Given the description of an element on the screen output the (x, y) to click on. 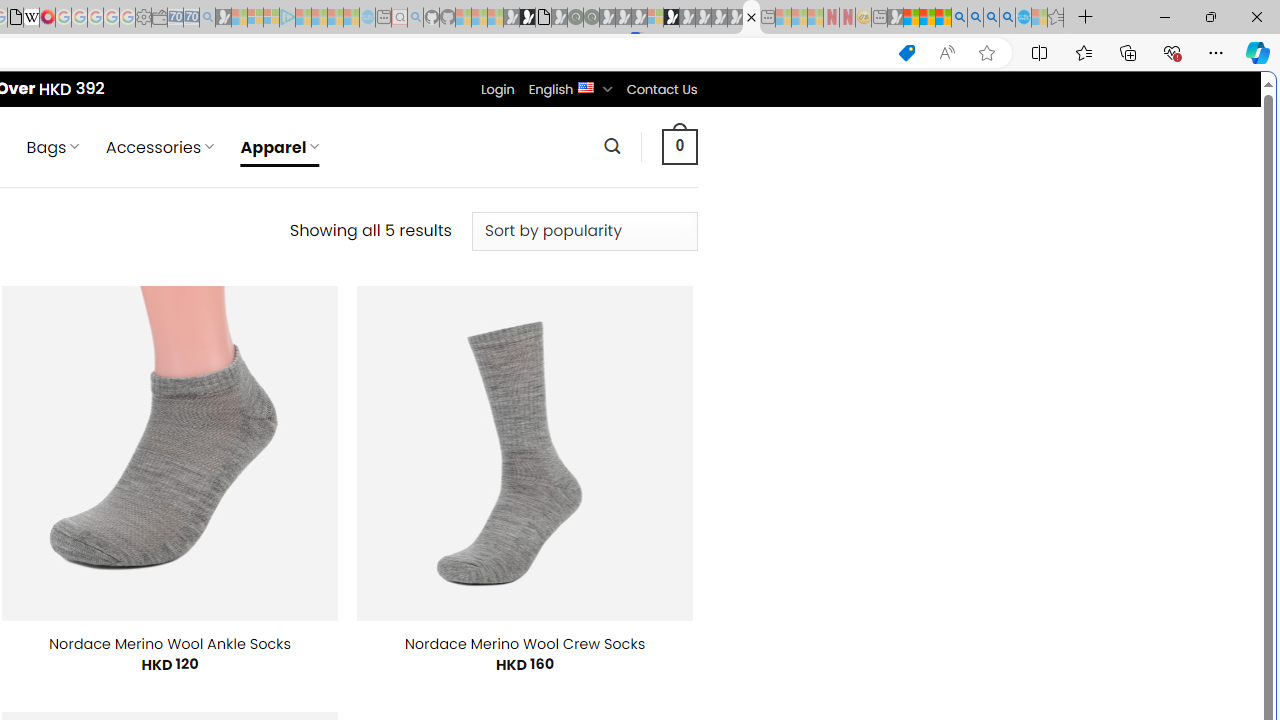
2009 Bing officially replaced Live Search on June 3 - Search (975, 17)
Contact Us (661, 89)
Bing AI - Search (959, 17)
Future Focus Report 2024 - Sleeping (591, 17)
Wallet - Sleeping (159, 17)
Tabs you've opened (276, 265)
Nordace Merino Wool Crew Socks (525, 643)
